Given the description of an element on the screen output the (x, y) to click on. 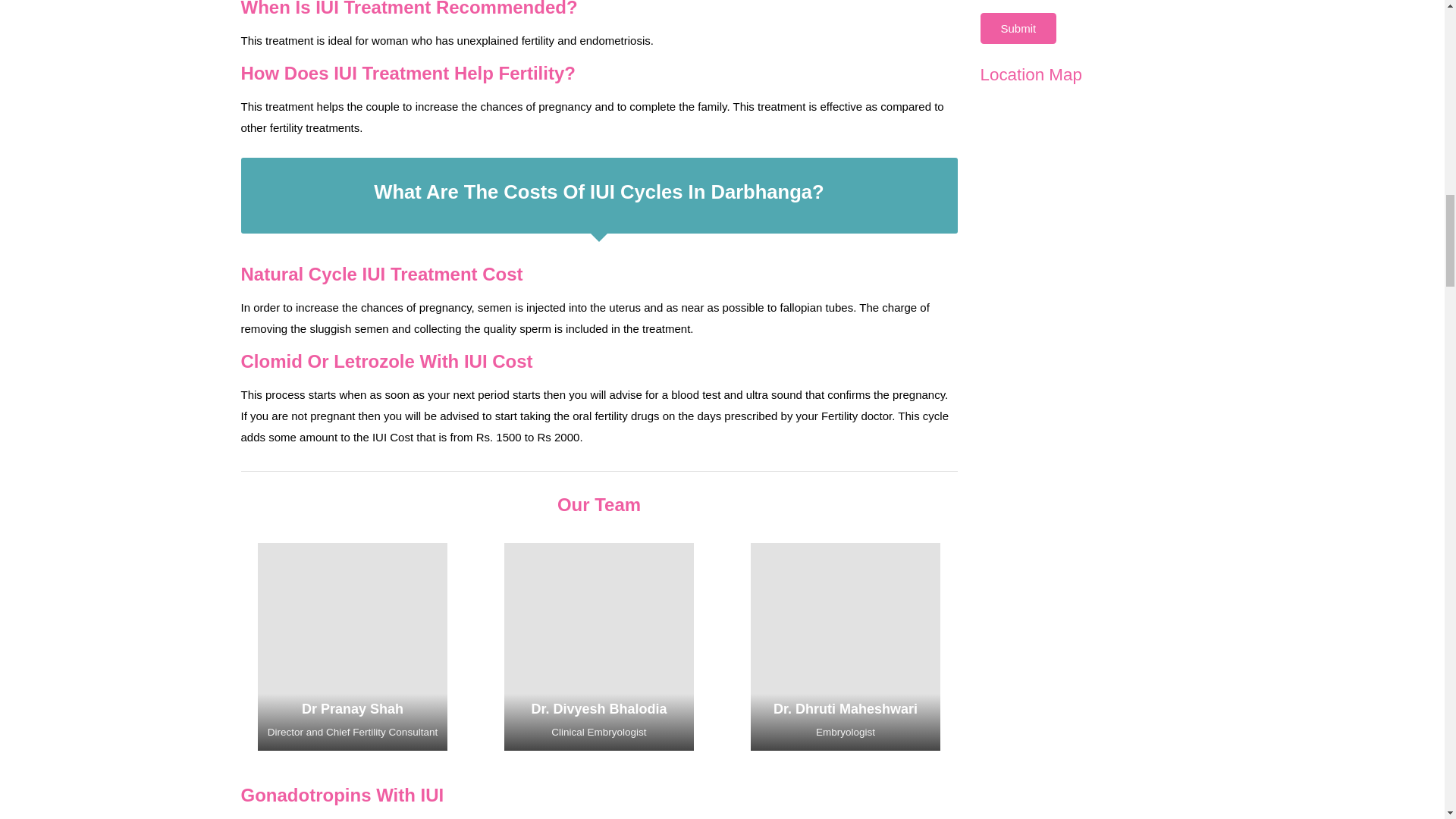
Submit (1018, 28)
